Given the description of an element on the screen output the (x, y) to click on. 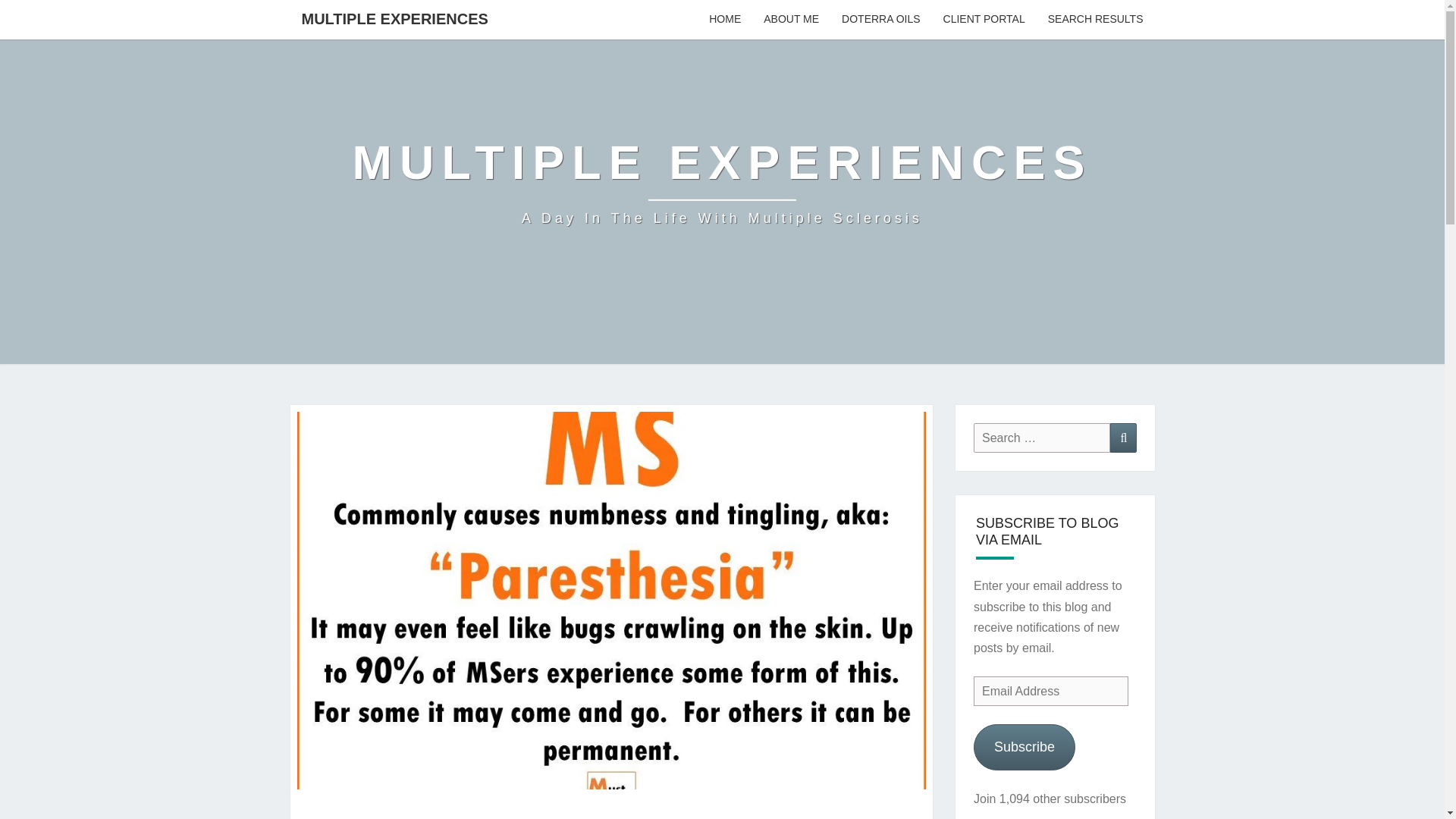
MULTIPLE EXPERIENCES (394, 18)
SEARCH RESULTS (1095, 19)
CLIENT PORTAL (983, 19)
Search for: (1041, 437)
HOME (724, 19)
Multiple experienceS (722, 182)
DOTERRA OILS (880, 19)
ABOUT ME (790, 19)
